Given the description of an element on the screen output the (x, y) to click on. 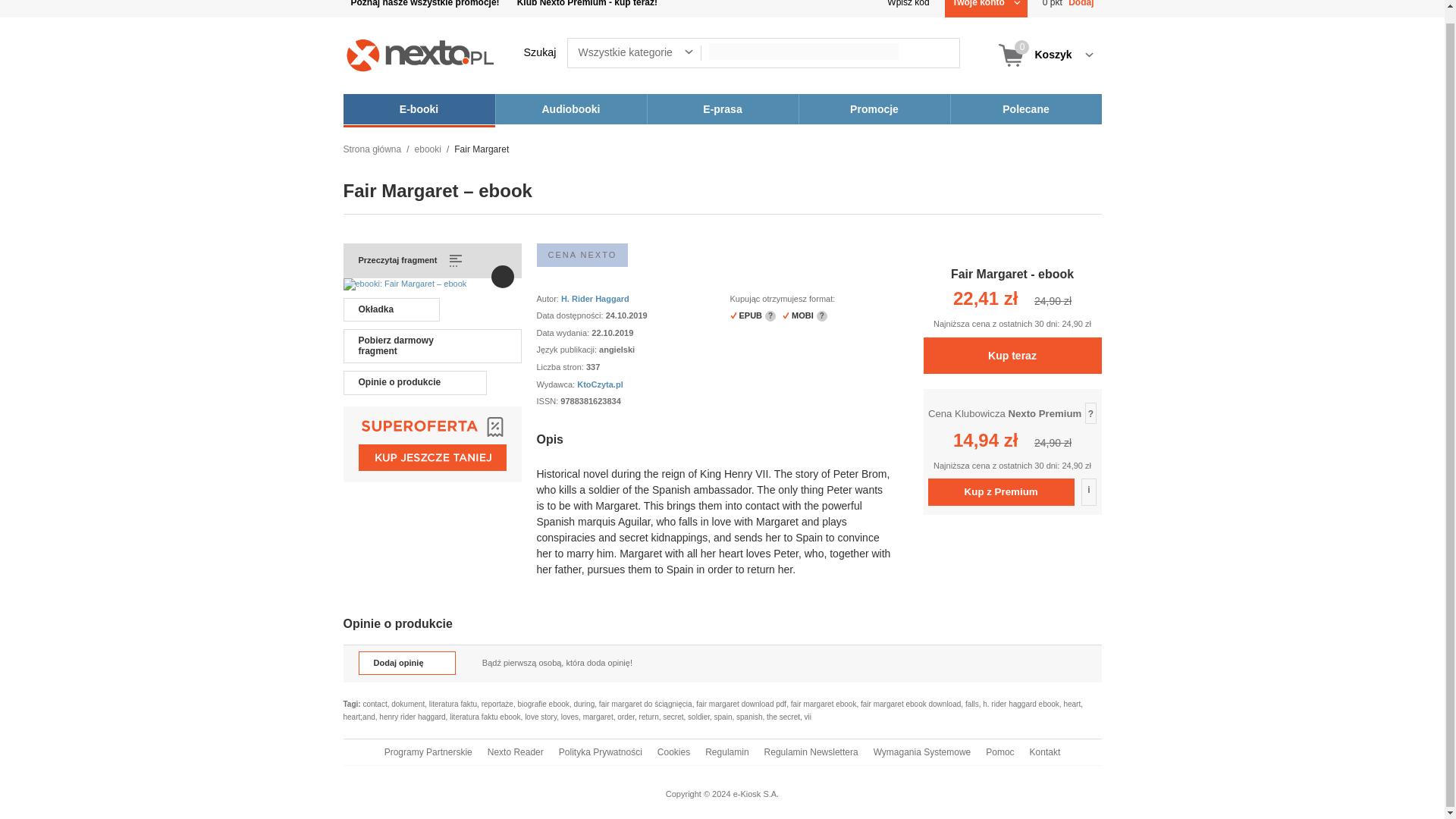
Cena Nexto (582, 254)
Wpisz kod (907, 8)
Poznaj nasze wszystkie promocje! (424, 8)
E-booki (418, 109)
0 pkt Dodaj (1068, 8)
Opinie o produkcie (414, 382)
Wszystkie kategorie (644, 52)
Klub Nexto Premium - kup teraz! (587, 8)
KtoCzyta.pl (599, 384)
Twoje konto (985, 8)
